Given the description of an element on the screen output the (x, y) to click on. 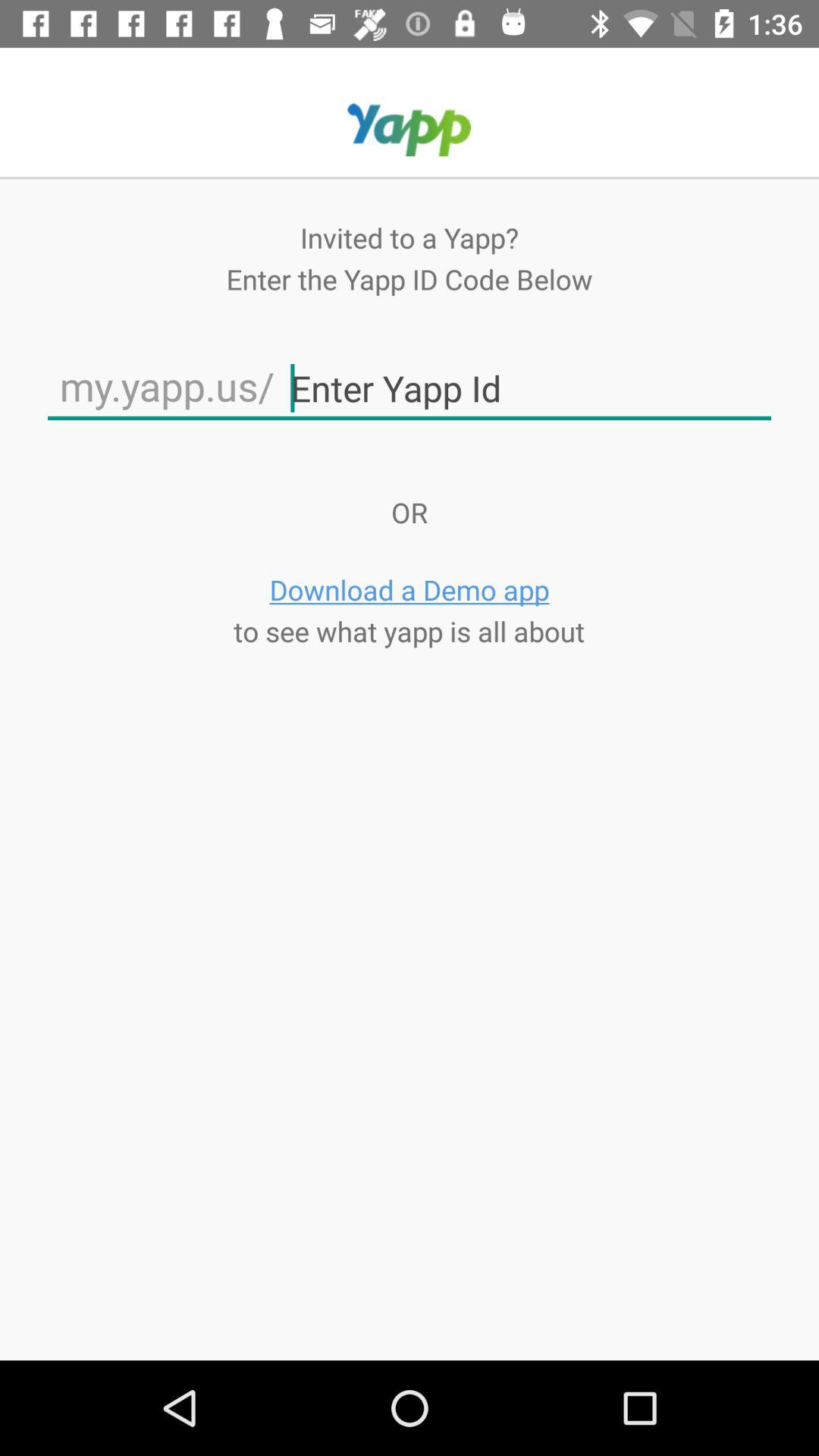
press the download a demo app (409, 589)
